Given the description of an element on the screen output the (x, y) to click on. 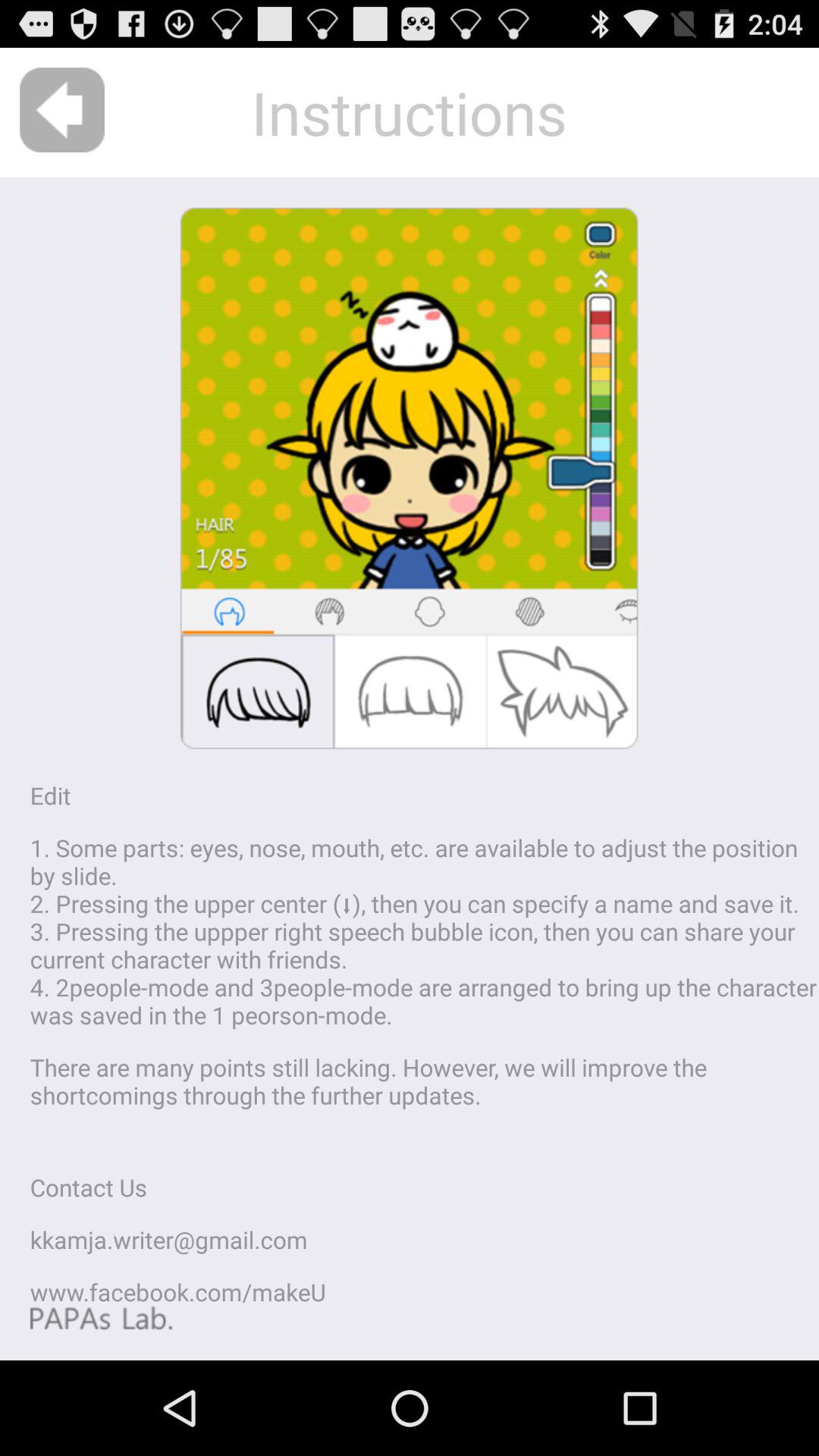
jump until kkamja writer gmail app (168, 1239)
